Given the description of an element on the screen output the (x, y) to click on. 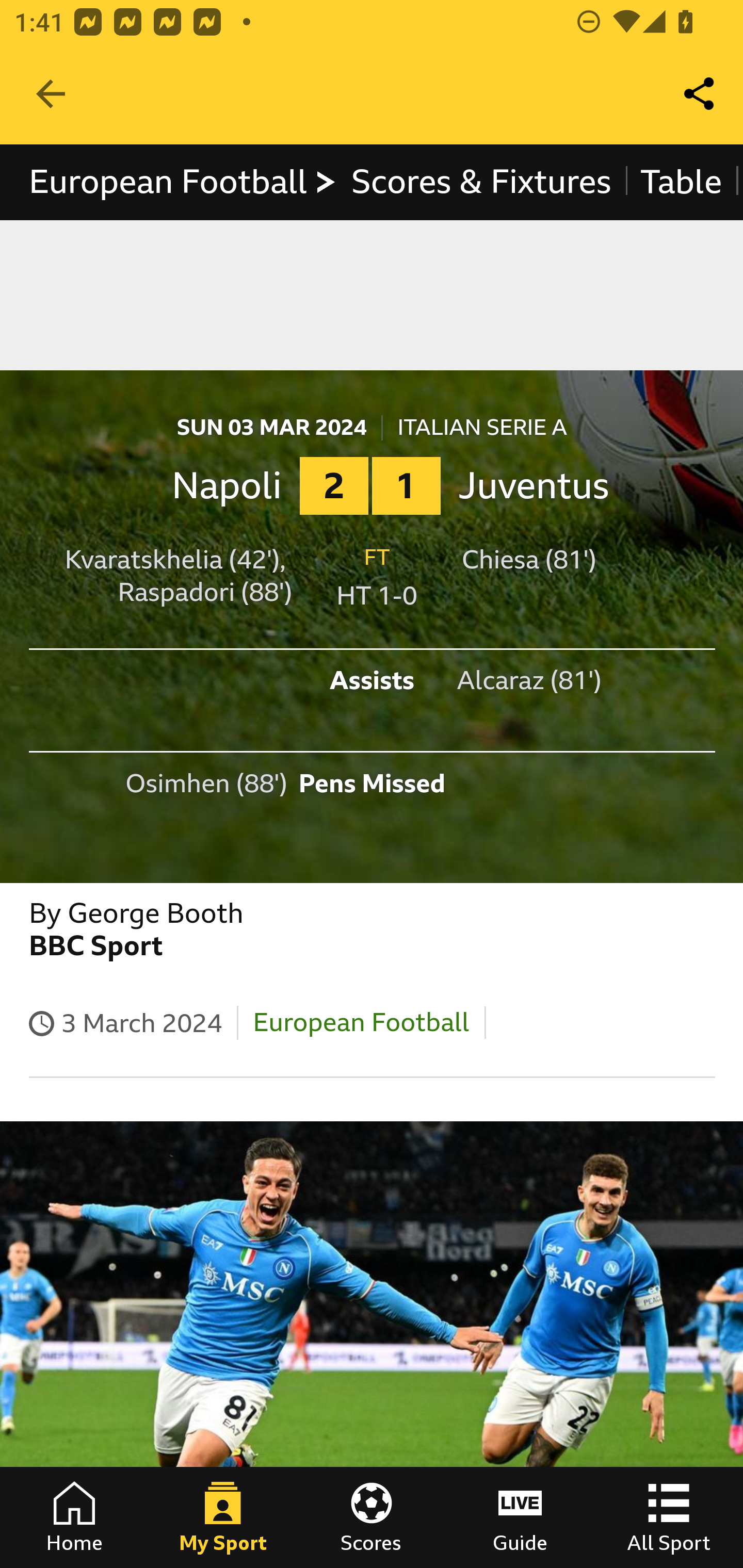
Navigate up (50, 93)
Share (699, 93)
European Football  (182, 181)
Scores & Fixtures (480, 181)
Table (681, 181)
European Football (361, 1022)
Home (74, 1517)
Scores (371, 1517)
Guide (519, 1517)
All Sport (668, 1517)
